Given the description of an element on the screen output the (x, y) to click on. 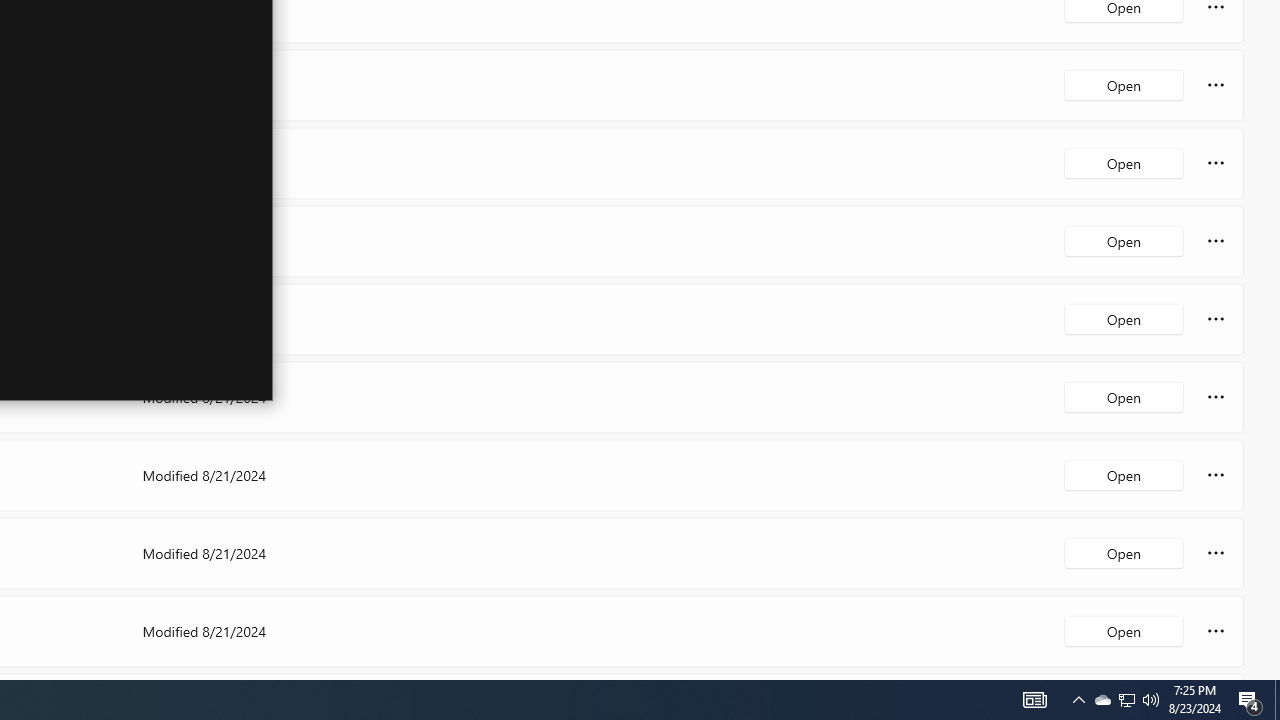
More options (1215, 630)
Open (1102, 699)
Action Center, 4 new notifications (1123, 630)
Show desktop (1250, 699)
Q2790: 100% (1126, 699)
Notification Chevron (1277, 699)
User Promoted Notification Area (1151, 699)
AutomationID: 4105 (1078, 699)
